Given the description of an element on the screen output the (x, y) to click on. 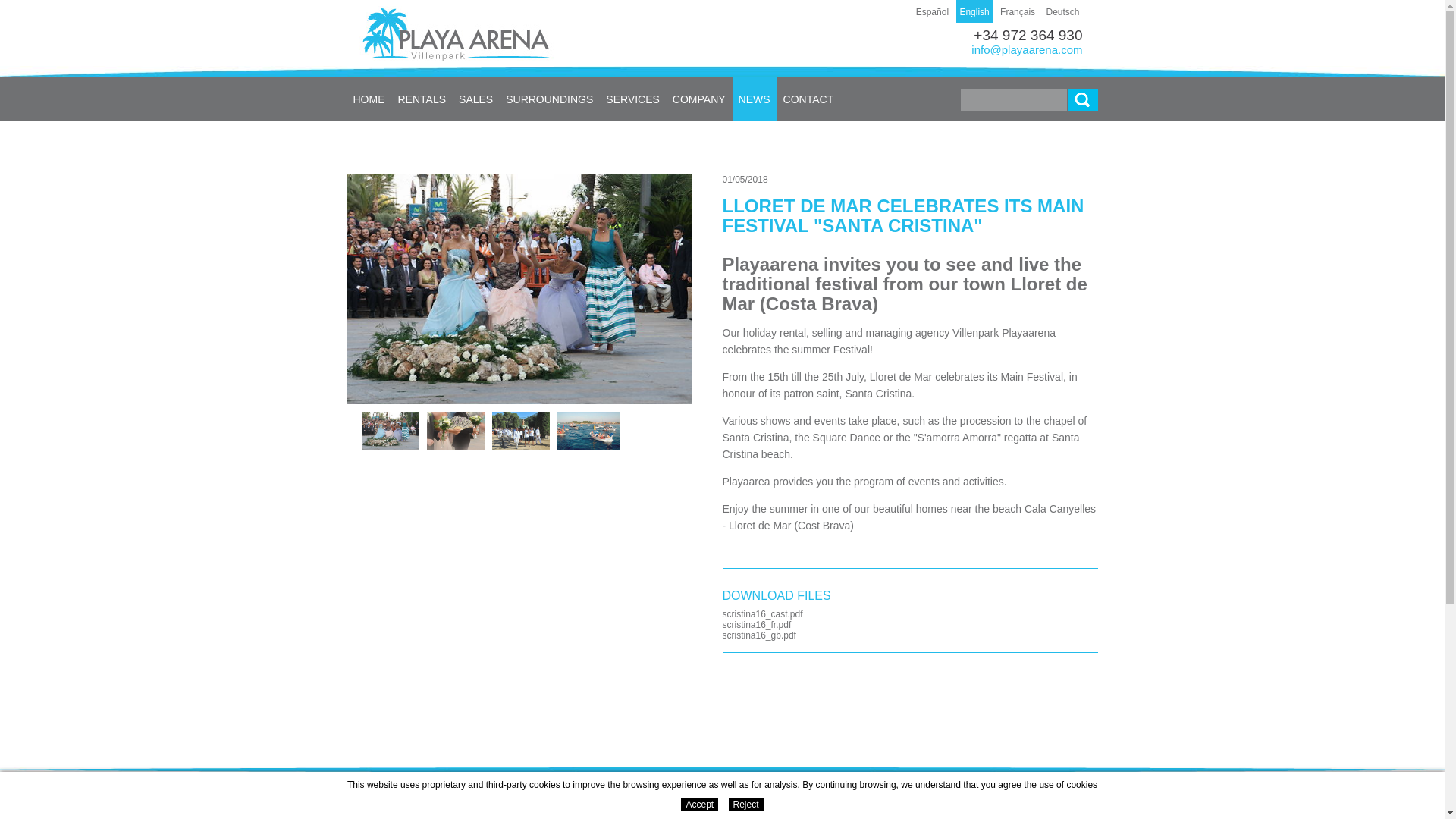
SALES (475, 98)
Contact (809, 98)
Deutsch (1061, 11)
NEWS (754, 98)
English (973, 11)
Deutsch (1061, 11)
SURROUNDINGS (549, 98)
Company (699, 98)
CONTACT (809, 98)
Services (632, 98)
RENTALS (421, 98)
English (973, 11)
News (754, 98)
Sales (475, 98)
COMPANY (699, 98)
